Given the description of an element on the screen output the (x, y) to click on. 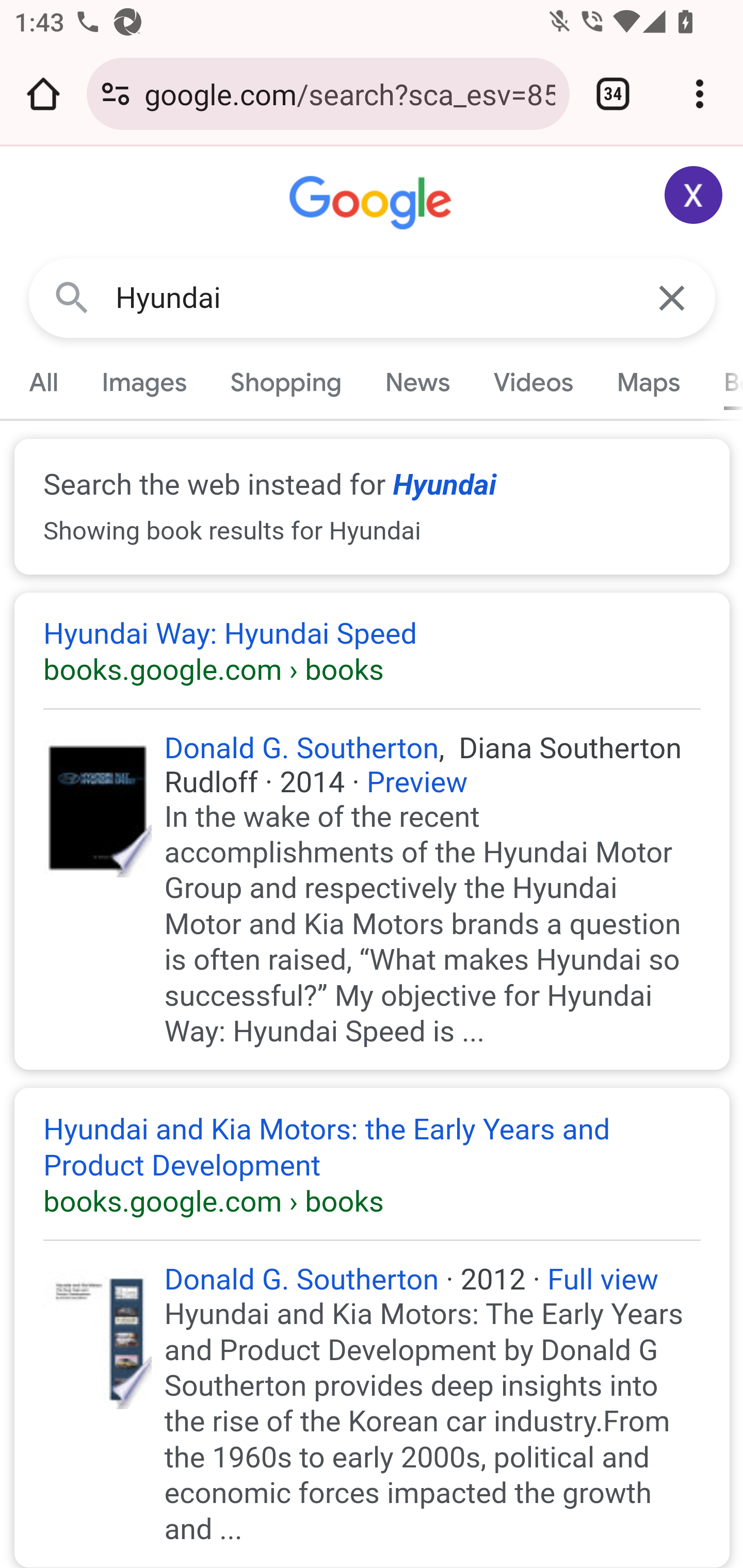
Open the home page (43, 93)
Connection is secure (115, 93)
Switch or close tabs (612, 93)
Customize and control Google Chrome (699, 93)
Google (372, 203)
Google Account: Xiaoran (zxrappiumtest@gmail.com) (694, 195)
Google Search (71, 296)
Clear Search (672, 296)
Hyundai (372, 297)
All (43, 382)
Images (144, 382)
Shopping (285, 382)
News (417, 382)
Videos (533, 382)
Maps (647, 382)
Hyundai Way: Hyundai Speed (372, 652)
Donald G. Southerton (301, 747)
Preview (416, 781)
Donald G. Southerton (301, 1280)
Full view (602, 1280)
